Given the description of an element on the screen output the (x, y) to click on. 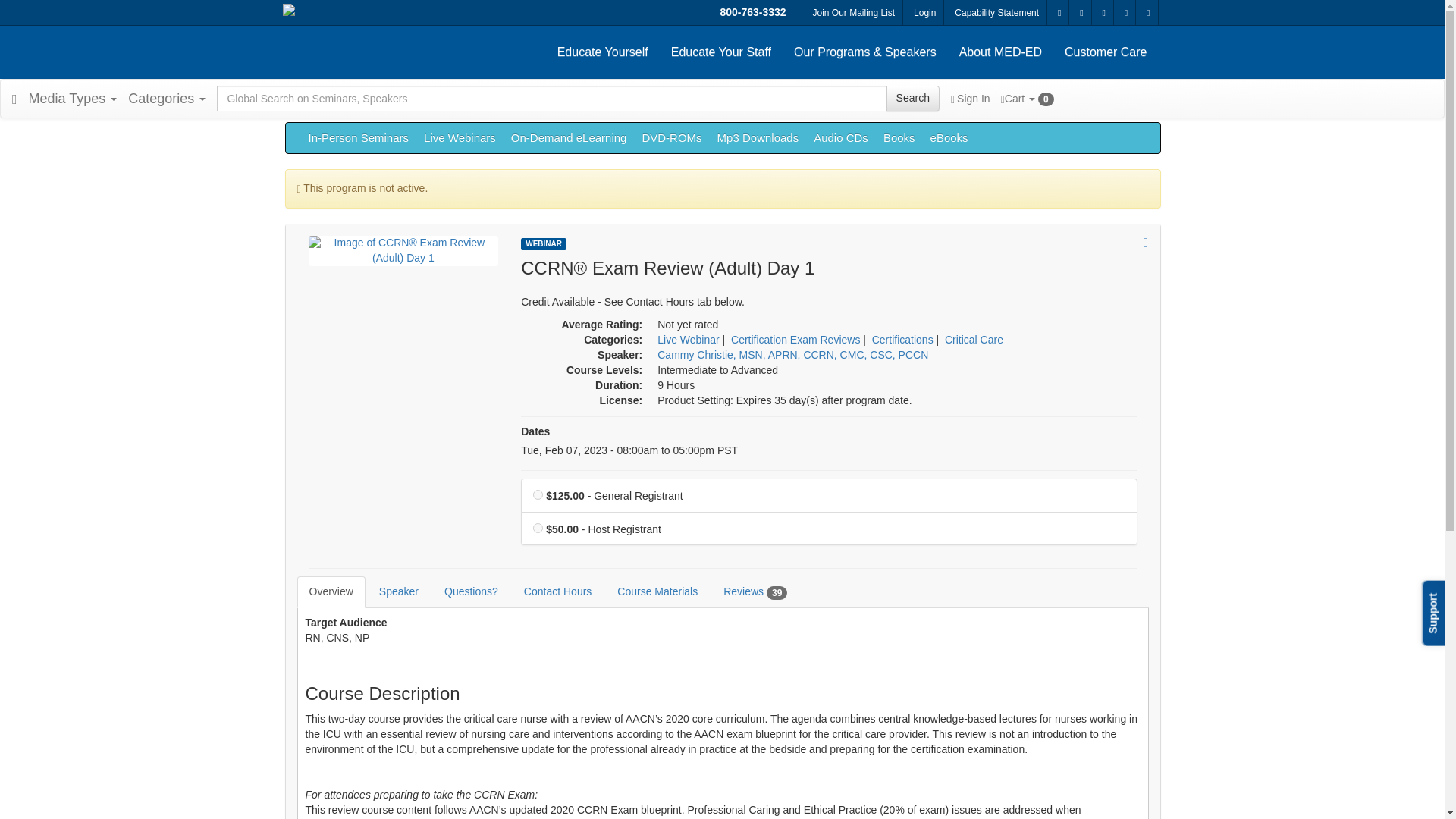
Capability Statement (996, 13)
Educate Your Staff (721, 52)
508764,125.000000000000 (537, 494)
508765,50.000000000000 (537, 528)
About MED-ED (999, 52)
Login (924, 13)
Customer Care (1104, 52)
800-763-3332 (752, 12)
Join Our Mailing List (853, 13)
Educate Yourself (602, 52)
